Given the description of an element on the screen output the (x, y) to click on. 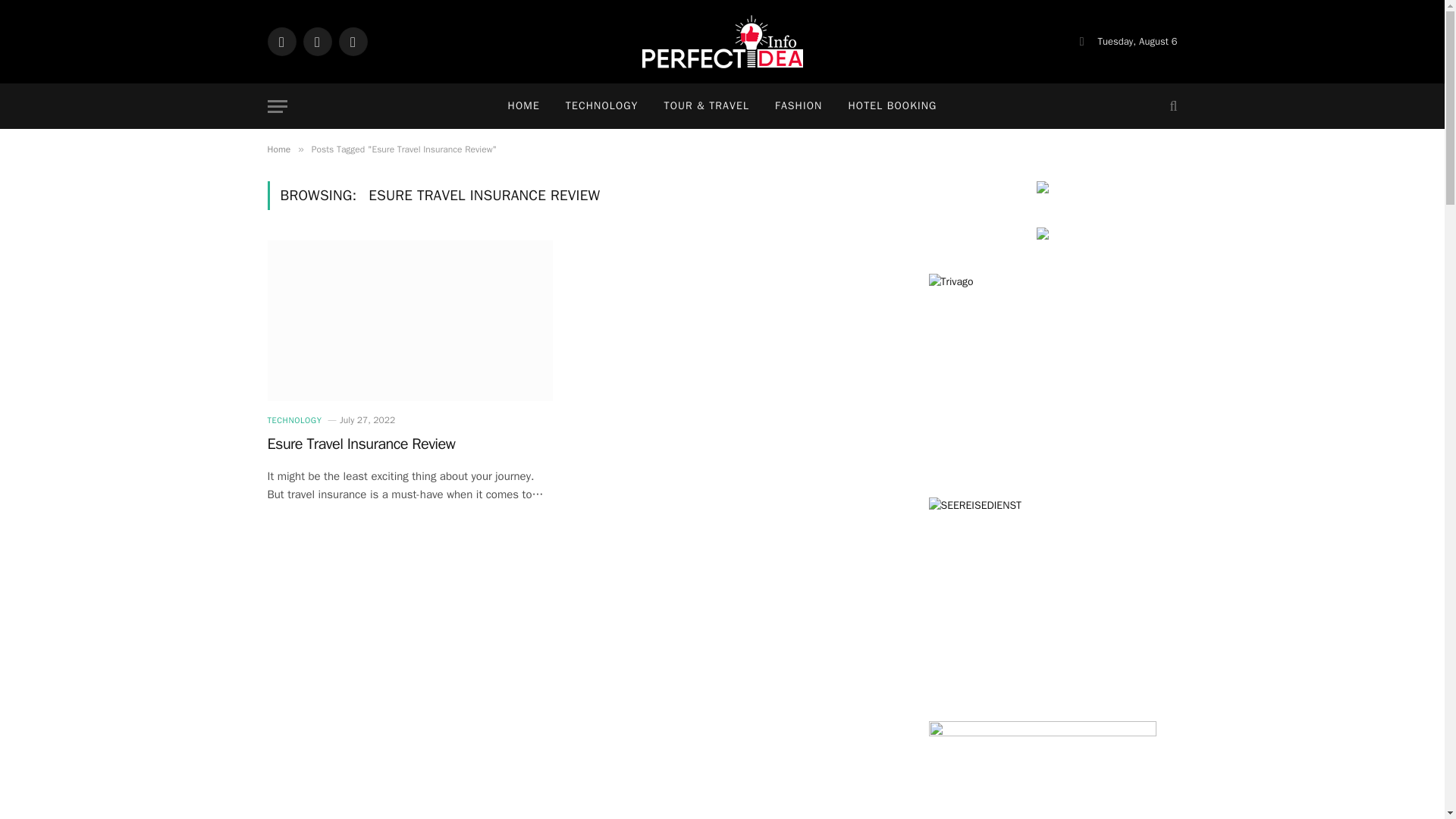
TECHNOLOGY (601, 105)
Twitter (316, 41)
Esure Travel Insurance Review (408, 320)
Instagram (351, 41)
HOME (524, 105)
HOTEL BOOKING (891, 105)
FASHION (797, 105)
Perfect Idea Info (722, 41)
Facebook (280, 41)
Home (277, 149)
Esure Travel Insurance Review (408, 444)
Switch to Dark Design - easier on eyes. (1081, 41)
TECHNOLOGY (293, 420)
